Given the description of an element on the screen output the (x, y) to click on. 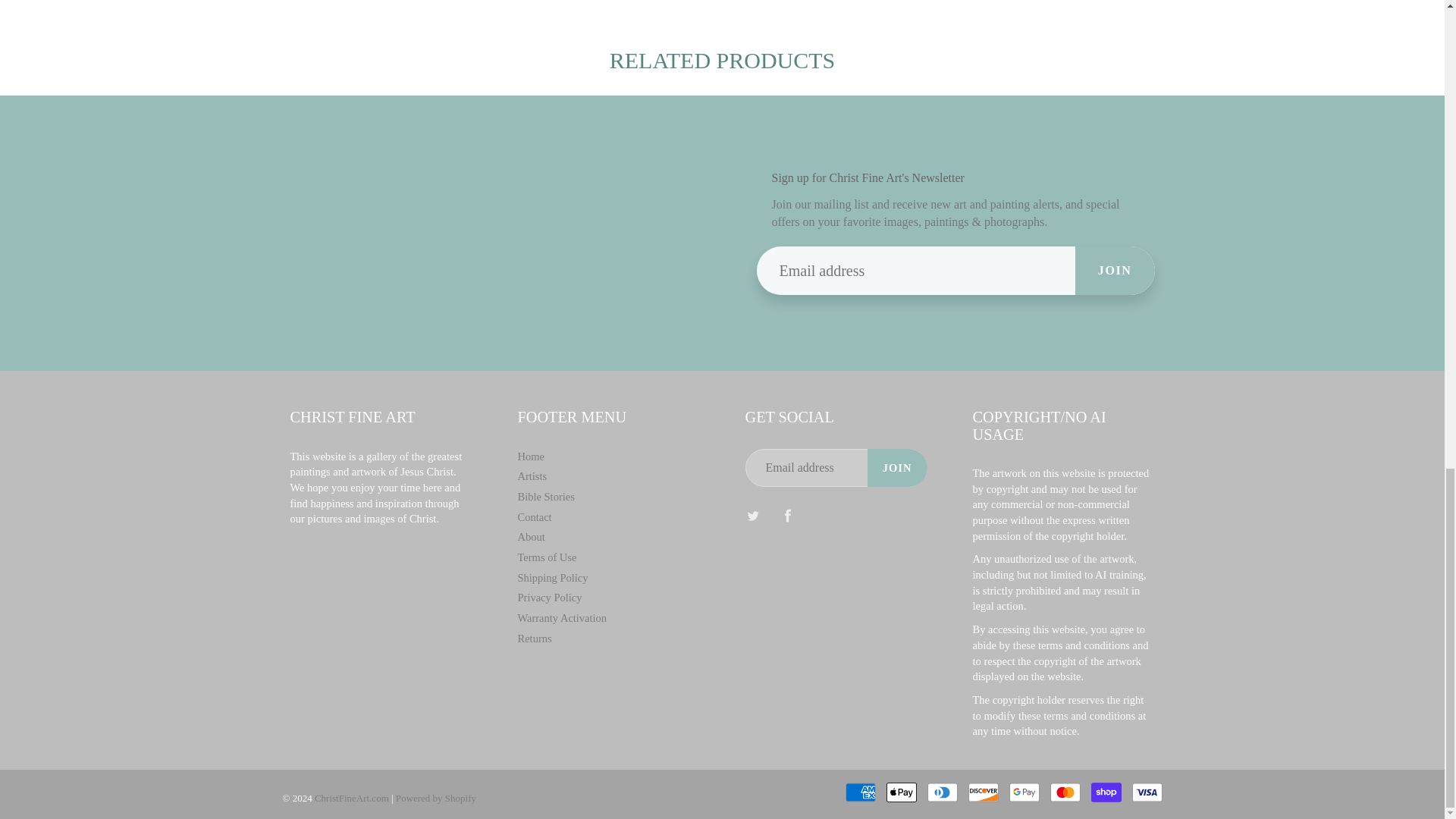
Visa (1146, 792)
Discover (982, 792)
Shop Pay (1105, 792)
Google Pay (1024, 792)
Apple Pay (900, 792)
Mastercard (1064, 792)
American Express (859, 792)
Diners Club (941, 792)
